Given the description of an element on the screen output the (x, y) to click on. 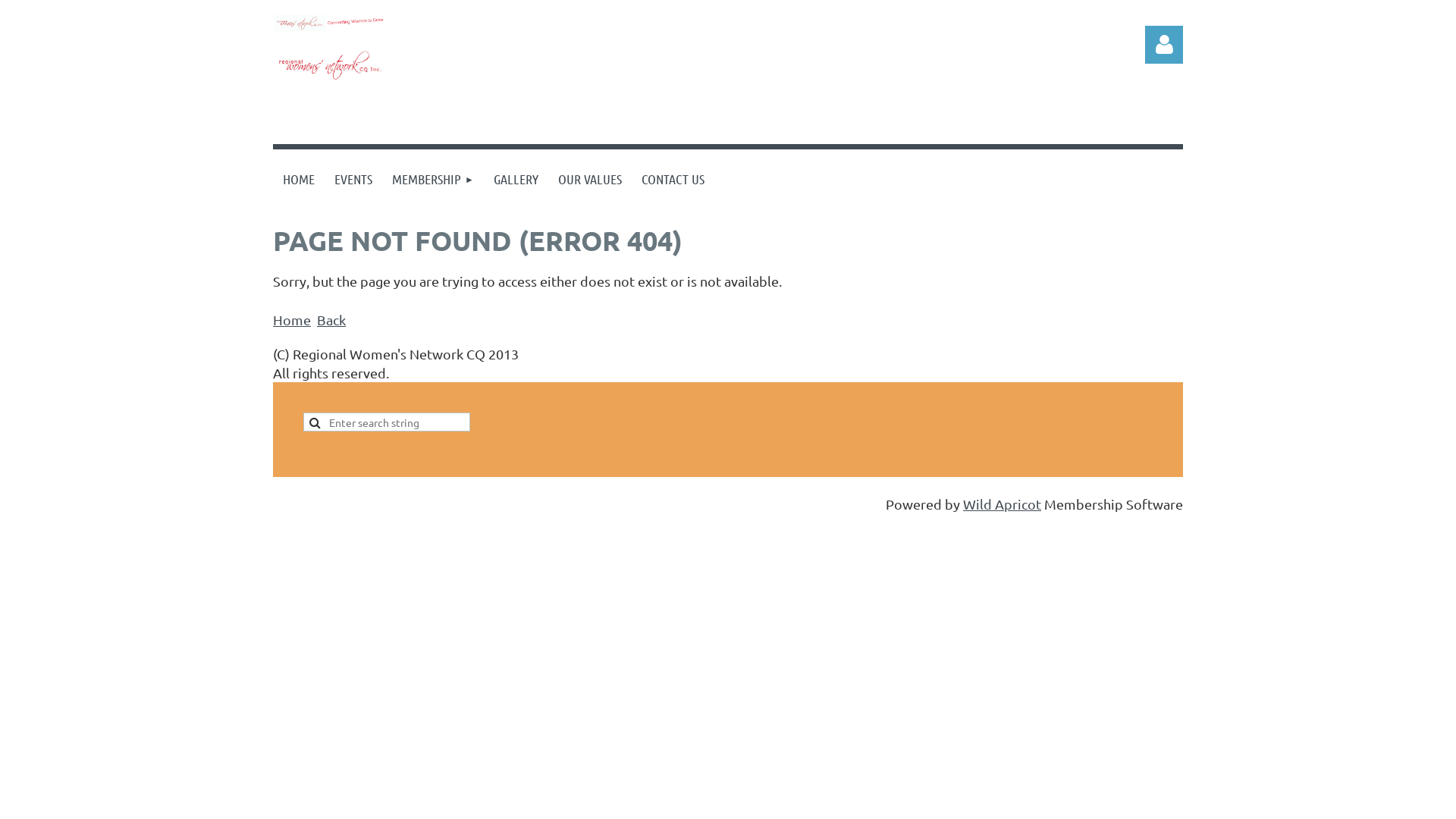
Log in Element type: text (1164, 44)
HOME Element type: text (298, 179)
Wild Apricot Element type: text (1002, 503)
Back Element type: text (330, 319)
GALLERY Element type: text (515, 179)
CONTACT US Element type: text (672, 179)
OUR VALUES Element type: text (589, 179)
Home Element type: text (291, 319)
EVENTS Element type: text (353, 179)
MEMBERSHIP Element type: text (432, 179)
